Given the description of an element on the screen output the (x, y) to click on. 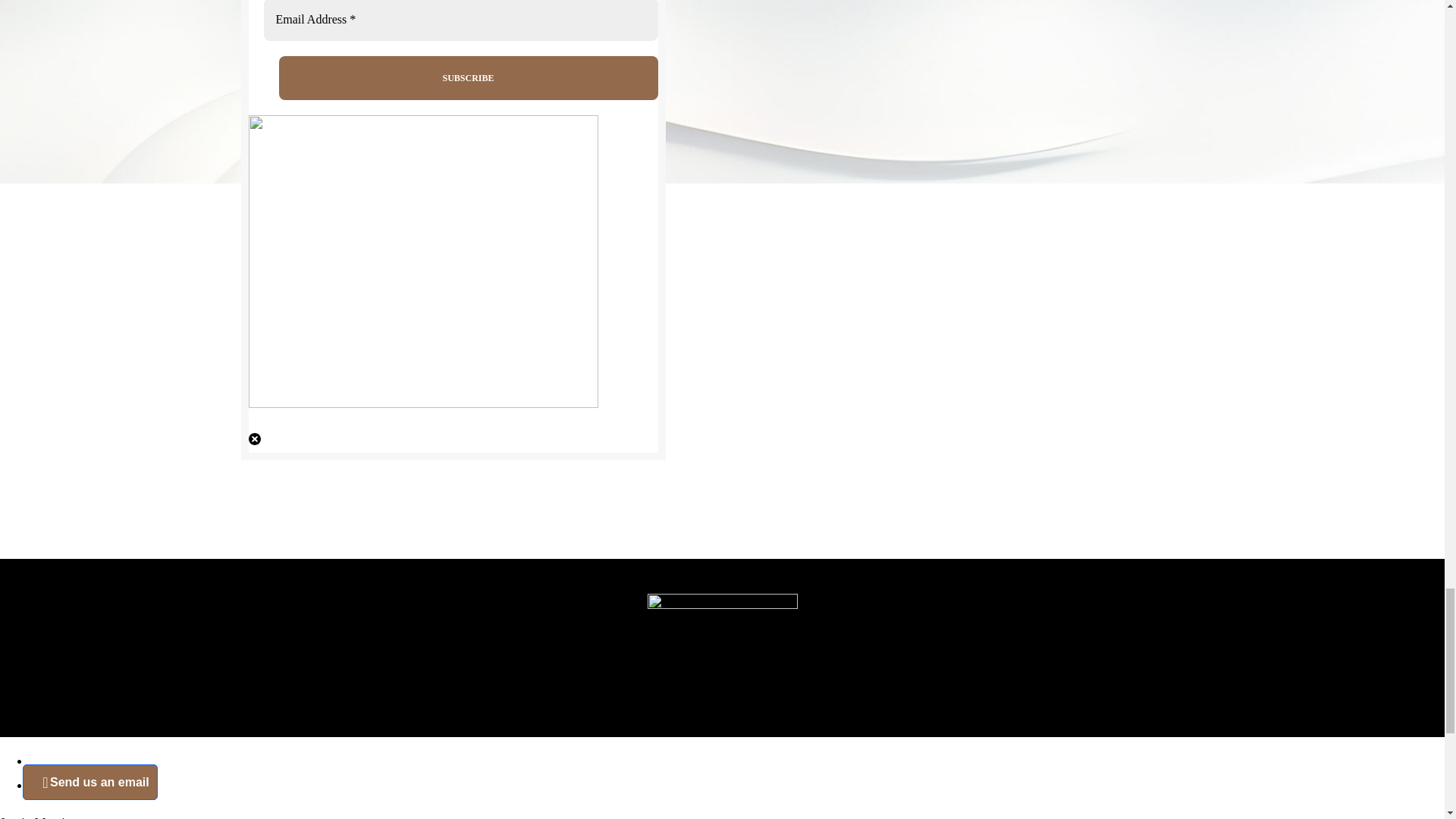
SUBSCRIBE (468, 77)
SUBSCRIBE (468, 77)
Email Address (460, 20)
